Given the description of an element on the screen output the (x, y) to click on. 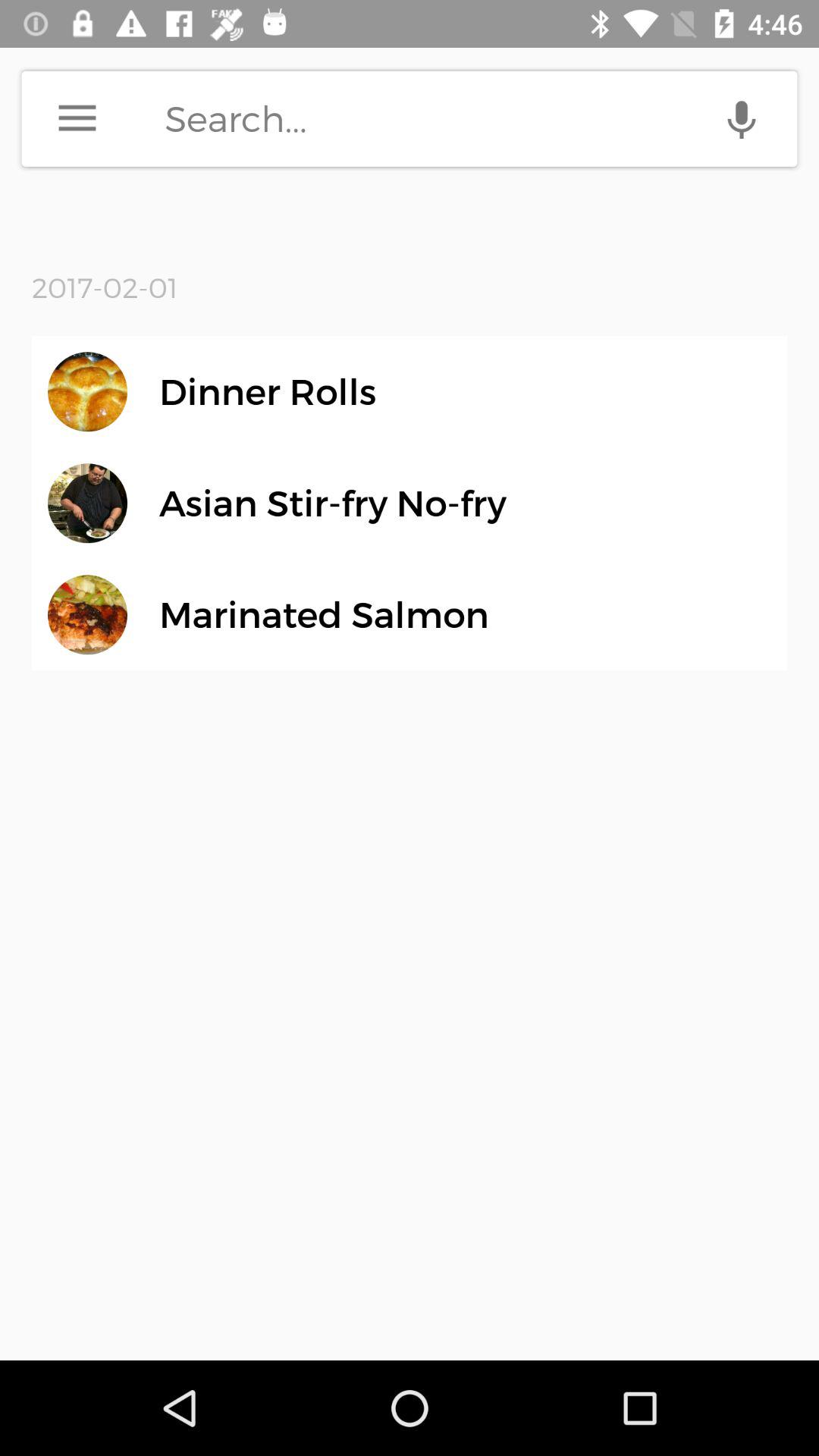
do a search (480, 118)
